Given the description of an element on the screen output the (x, y) to click on. 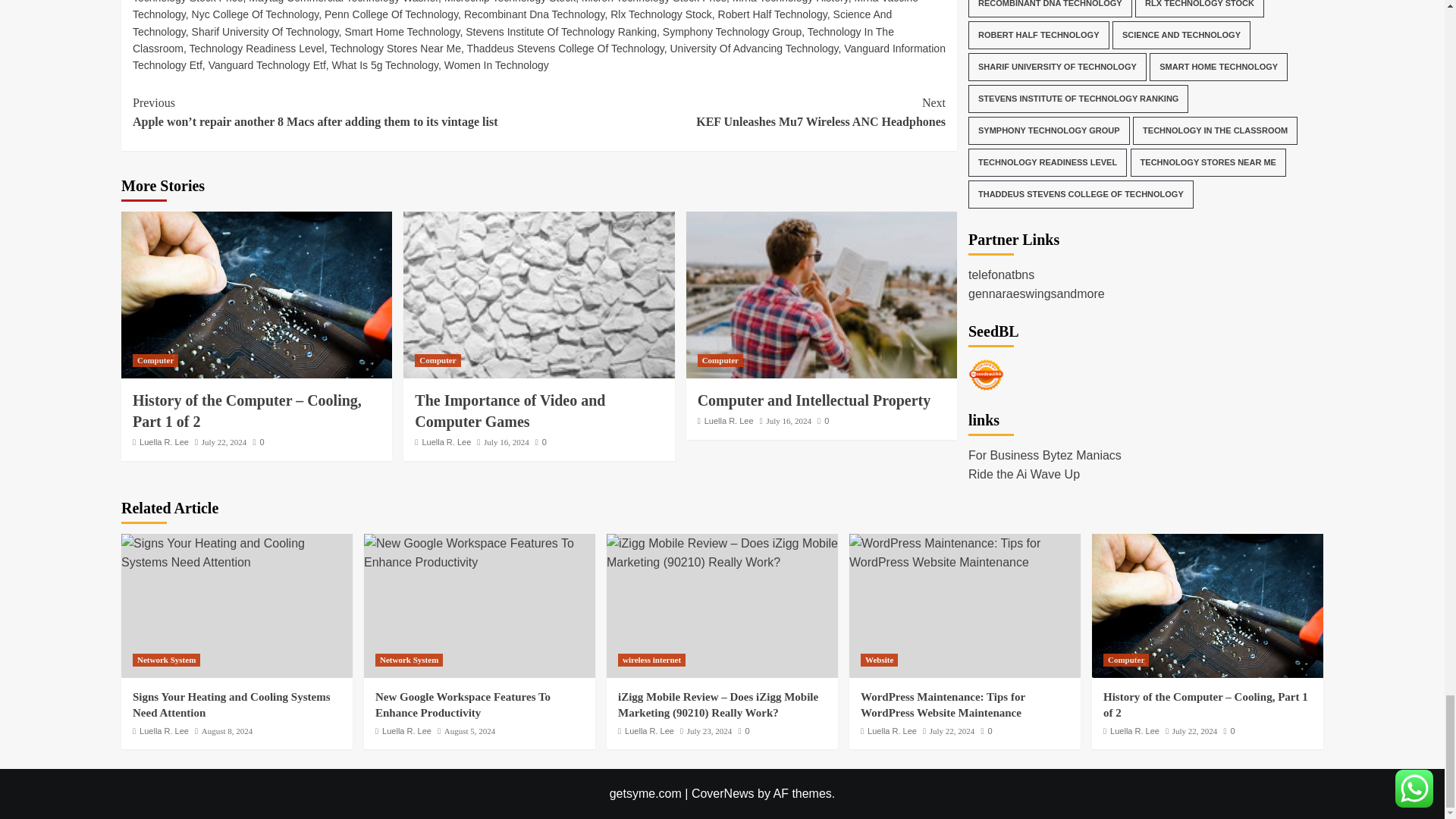
The Importance of Video and Computer Games (538, 294)
Louis testifies as witness in Norway trial. (538, 75)
Computer and Intellectual Property (820, 294)
